Given the description of an element on the screen output the (x, y) to click on. 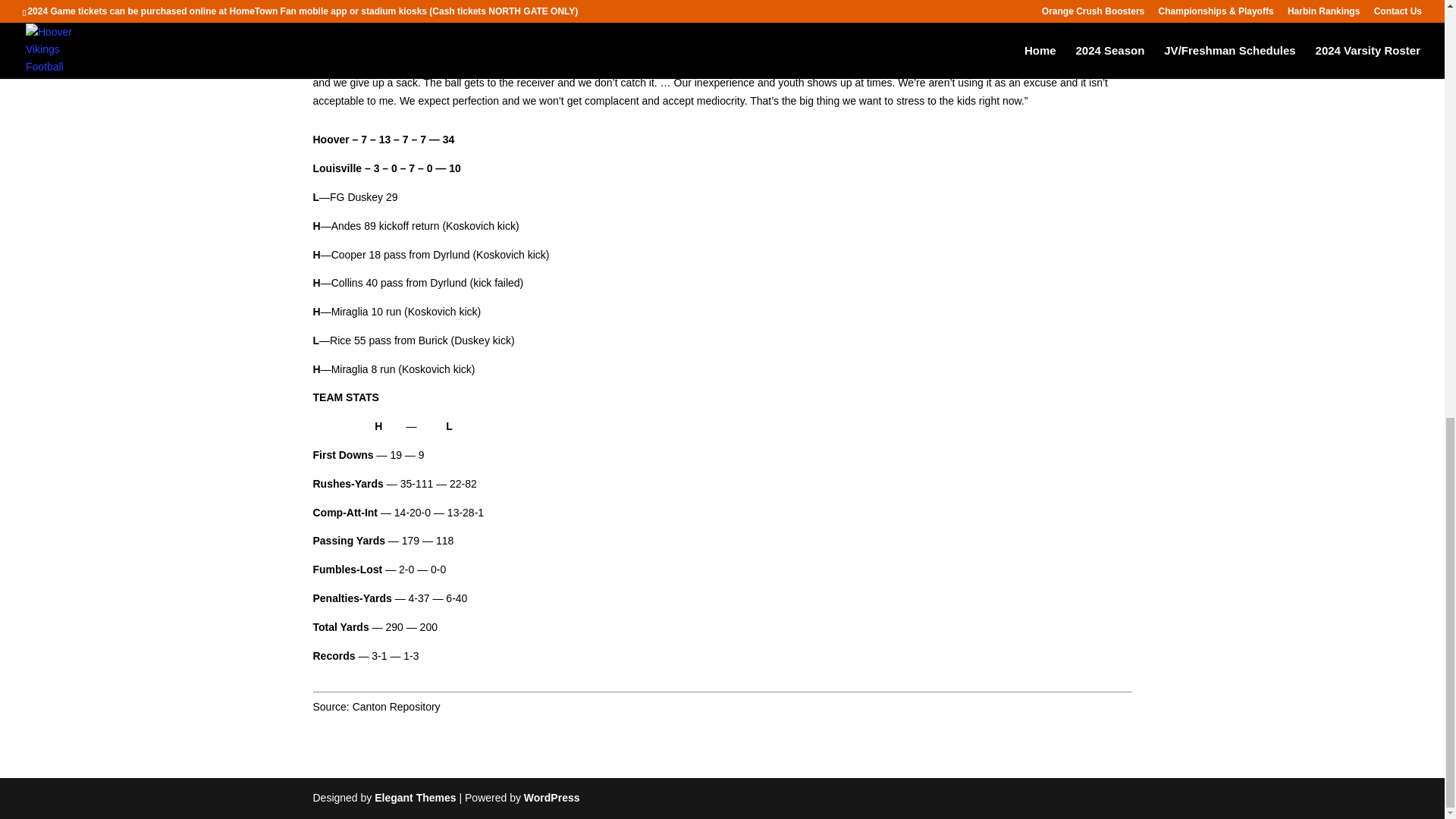
Elegant Themes (414, 797)
Premium WordPress Themes (414, 797)
WordPress (551, 797)
